Given the description of an element on the screen output the (x, y) to click on. 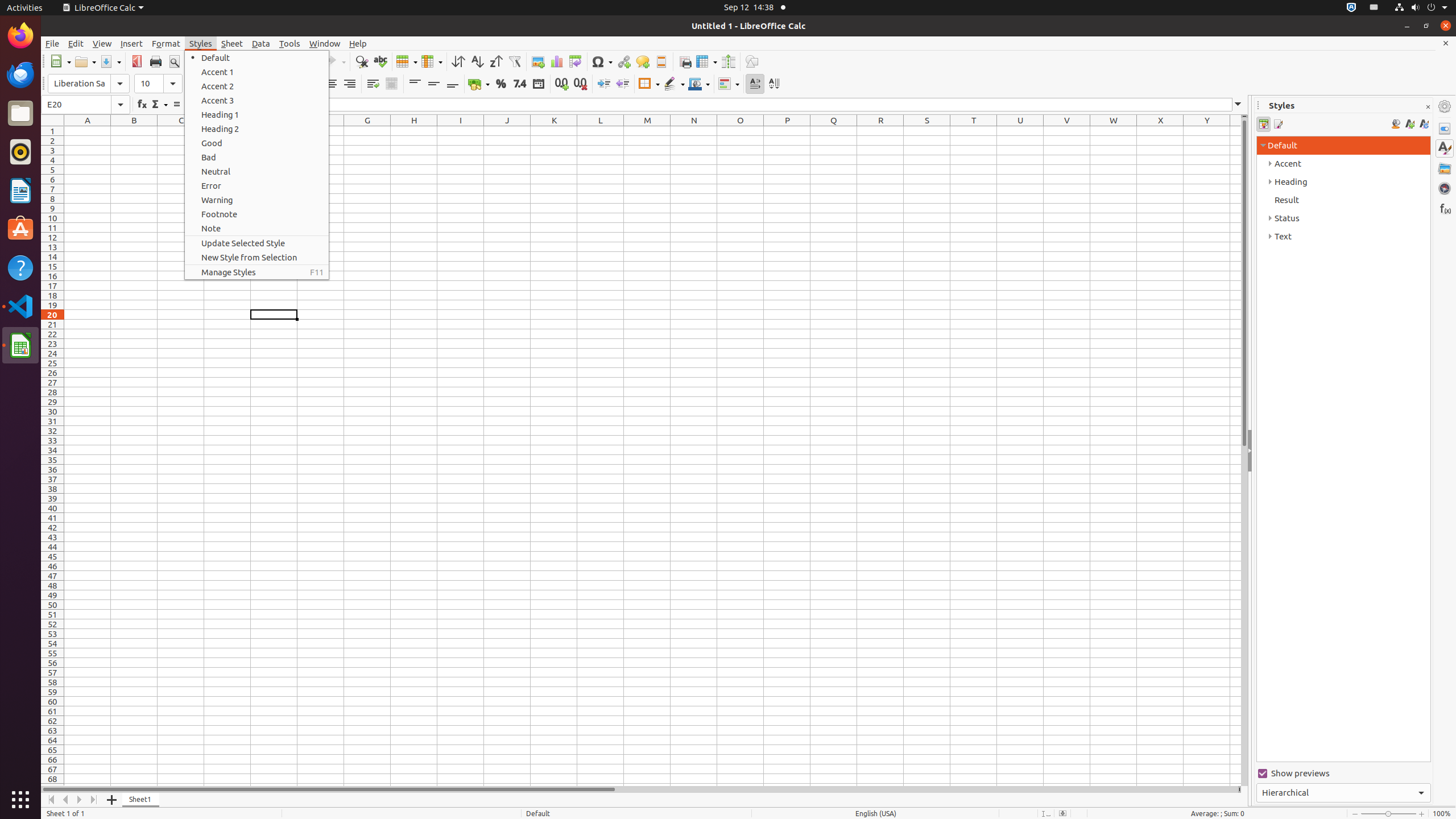
Accent 1 Element type: radio-menu-item (256, 71)
New Element type: push-button (59, 61)
Split Window Element type: push-button (727, 61)
Good Element type: radio-menu-item (256, 142)
Add Decimal Place Element type: push-button (561, 83)
